Given the description of an element on the screen output the (x, y) to click on. 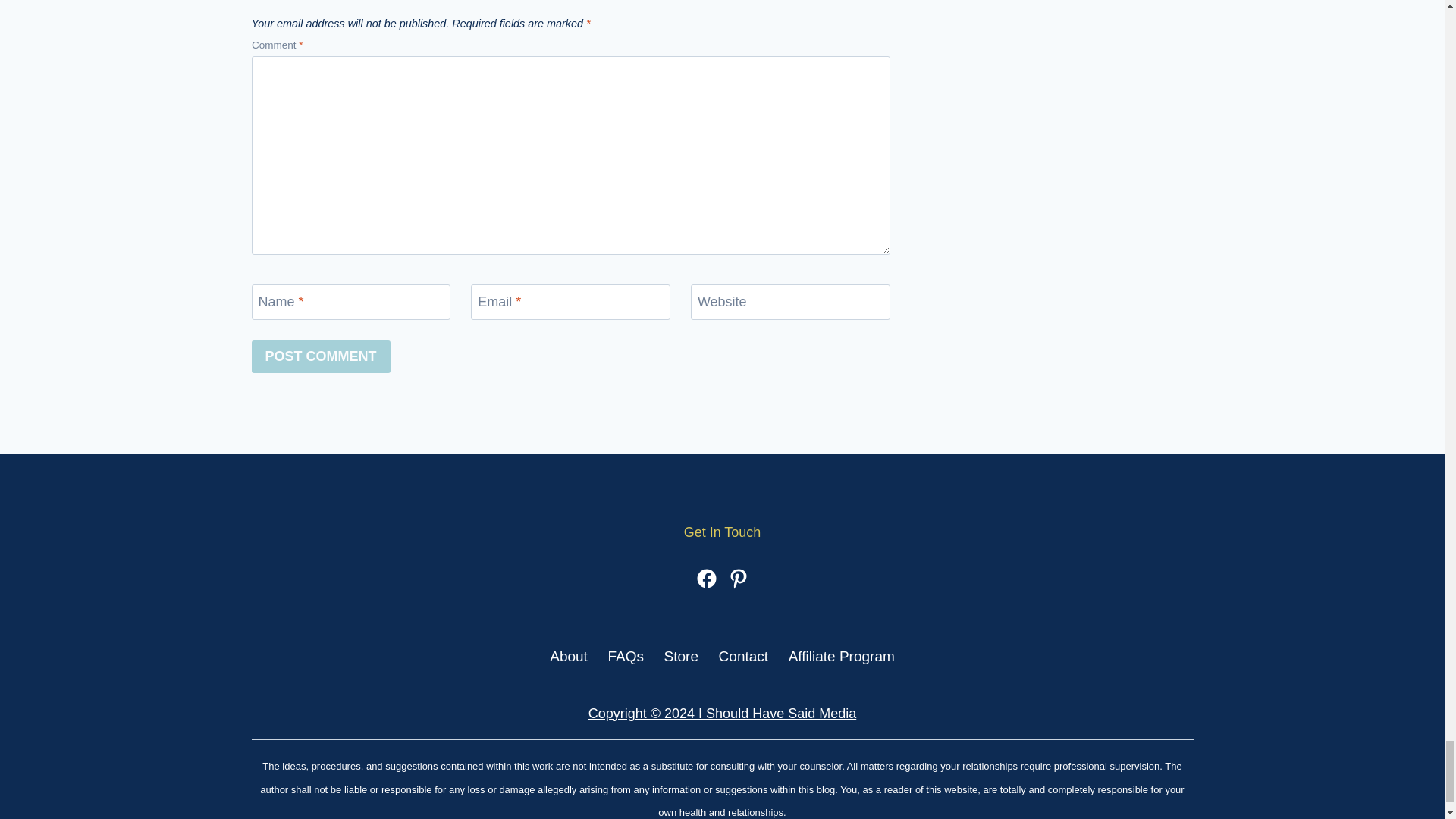
Post Comment (320, 356)
